Given the description of an element on the screen output the (x, y) to click on. 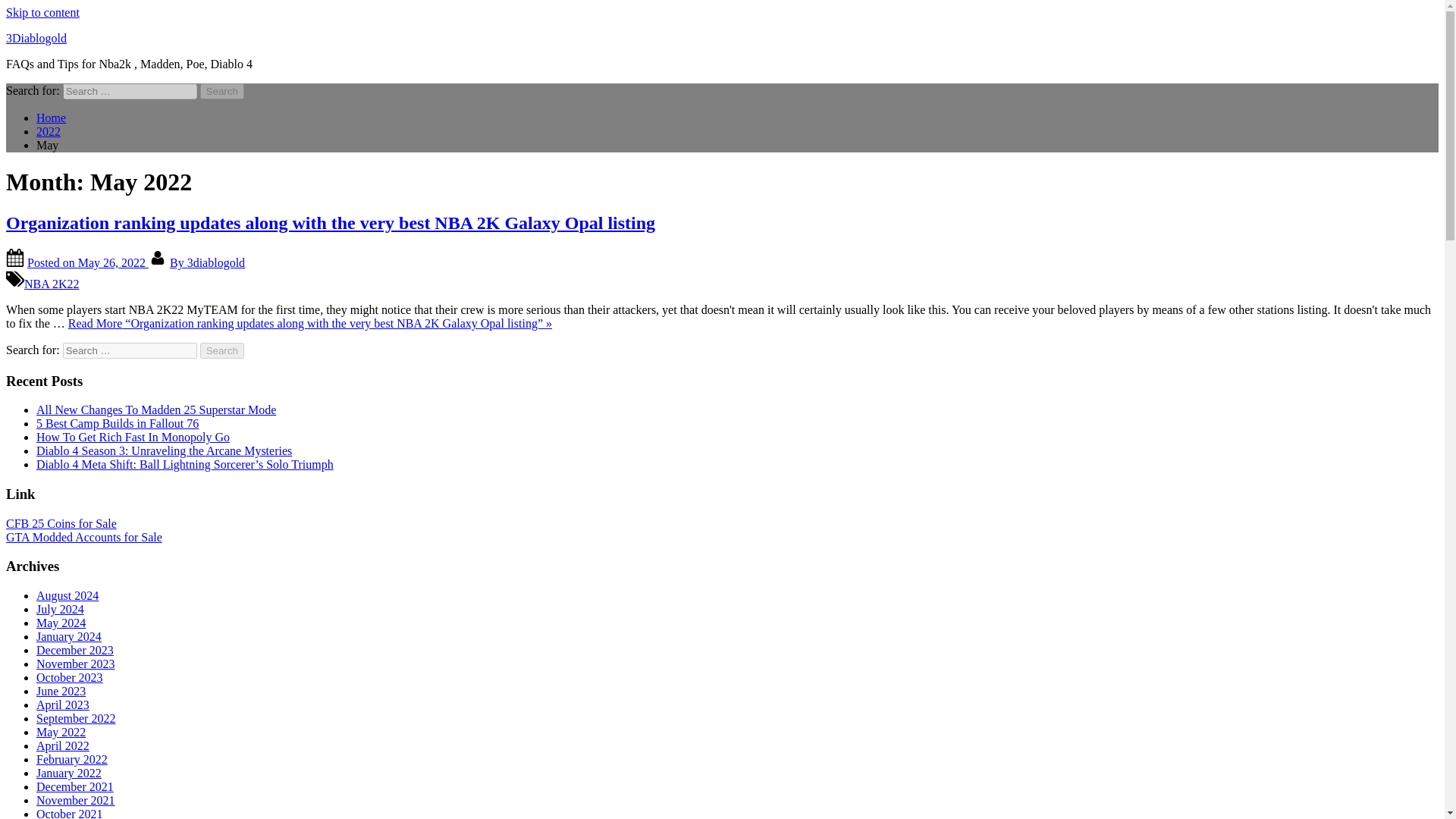
April 2023 (62, 704)
Search (222, 350)
By 3diablogold (207, 262)
December 2023 (74, 649)
Search (222, 350)
November 2021 (75, 799)
GTA Modded Accounts for Sale (83, 536)
January 2024 (68, 635)
How To Get Rich Fast In Monopoly Go (133, 436)
5 Best Camp Builds in Fallout 76 (117, 422)
